Given the description of an element on the screen output the (x, y) to click on. 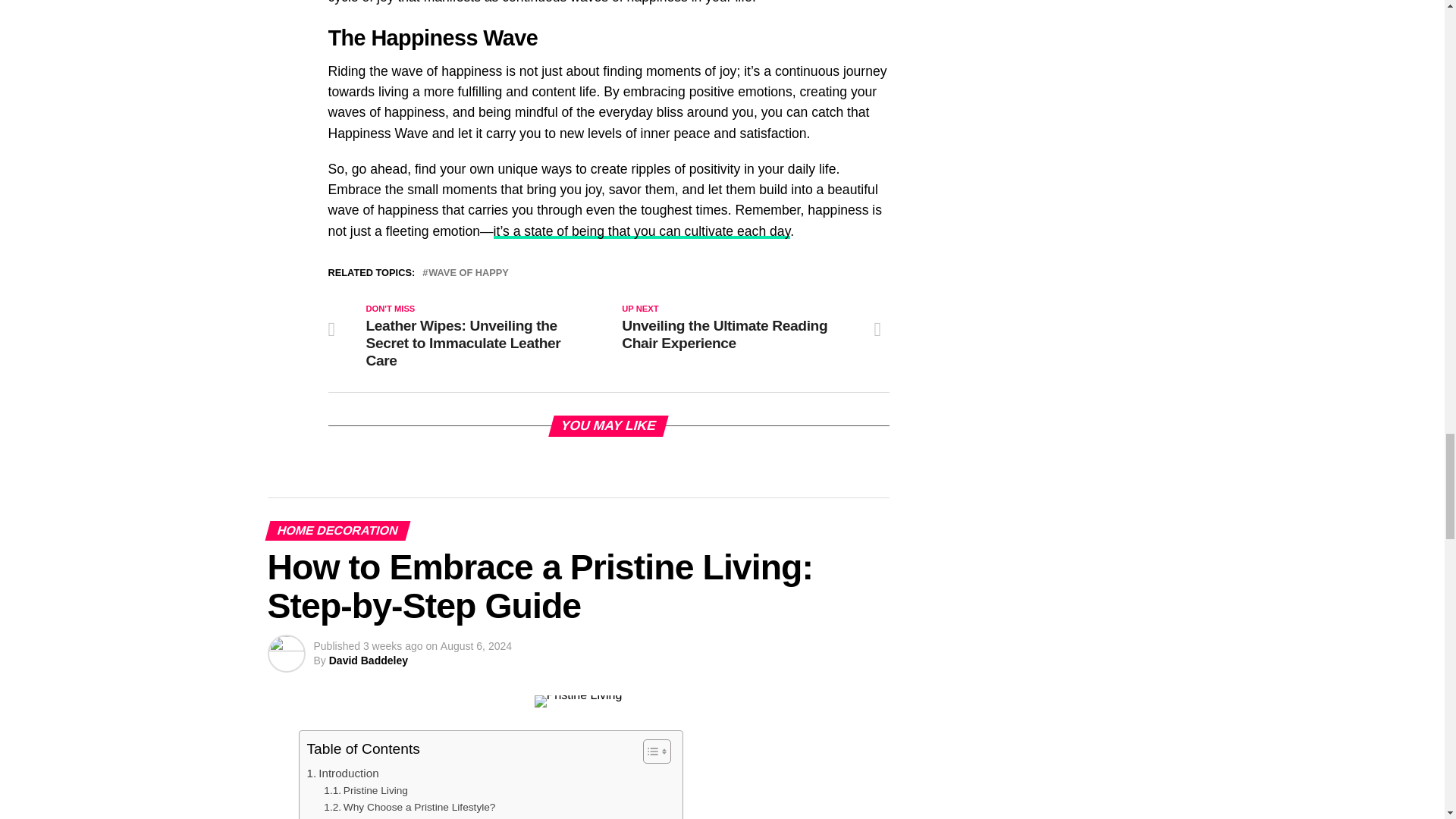
Introduction (341, 773)
Why Choose a Pristine Lifestyle? (409, 807)
Posts by David Baddeley (368, 660)
Decluttering Your Space: The First Step (423, 817)
Pristine Living (365, 790)
